Given the description of an element on the screen output the (x, y) to click on. 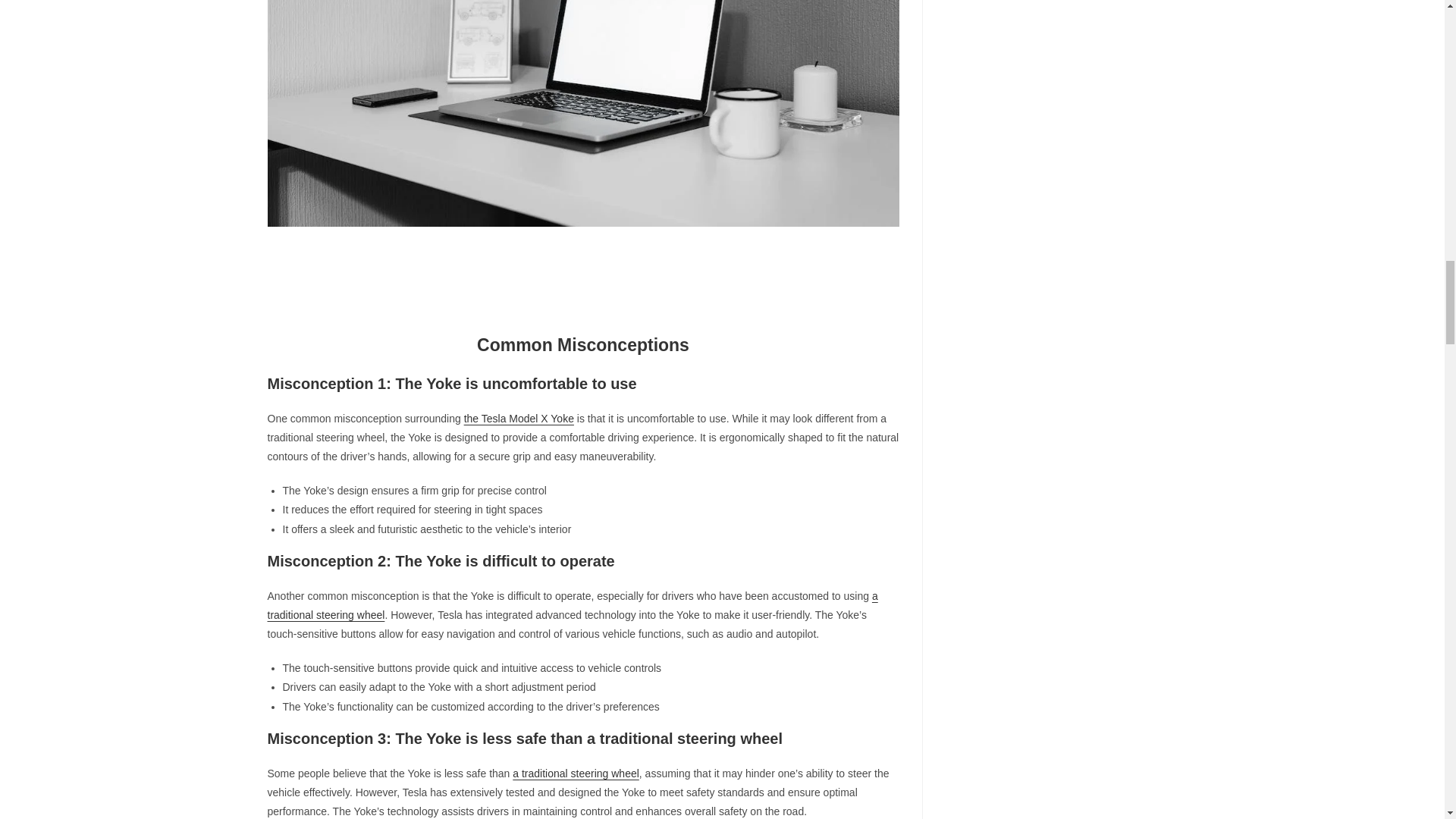
a traditional steering wheel (575, 773)
a traditional steering wheel (571, 604)
the Tesla Model X Yoke (518, 418)
